Given the description of an element on the screen output the (x, y) to click on. 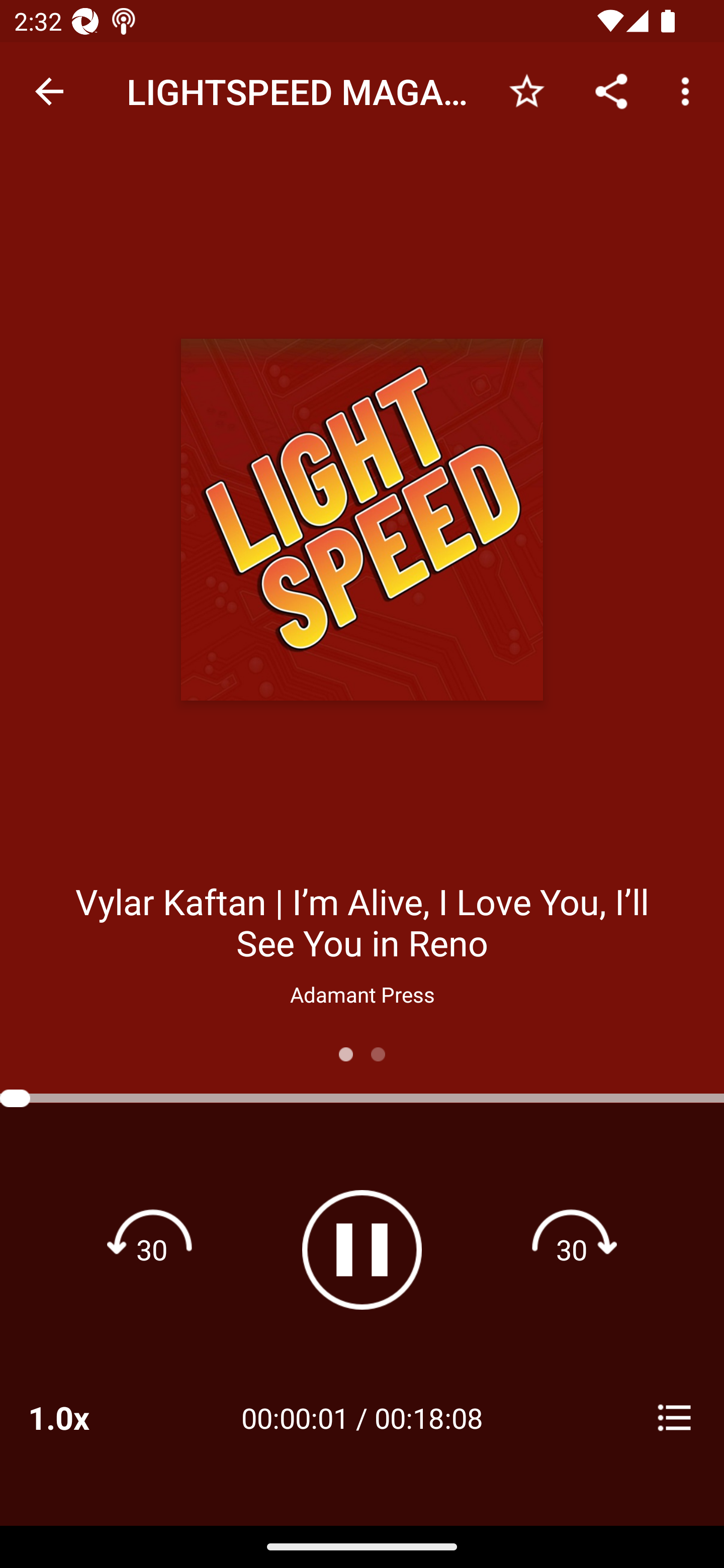
Navigate up (49, 91)
Add to Favorites (526, 90)
Share... (611, 90)
More options (688, 90)
Adamant Press (361, 994)
Pause (361, 1249)
Rewind (151, 1249)
Fast forward (571, 1249)
1.0x Playback Speeds (84, 1417)
00:18:08 (428, 1417)
